Given the description of an element on the screen output the (x, y) to click on. 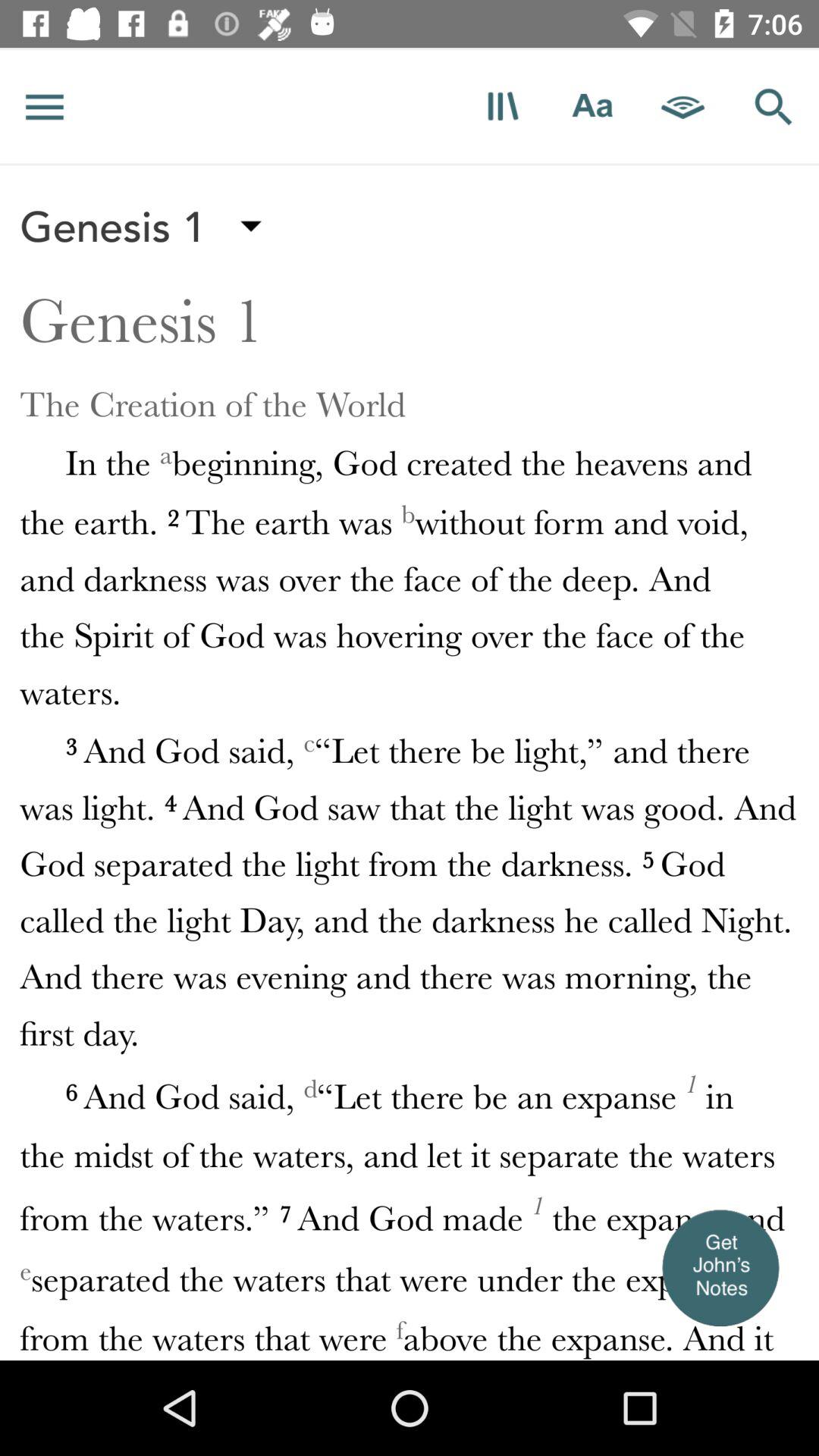
open in kindle app (683, 106)
